Given the description of an element on the screen output the (x, y) to click on. 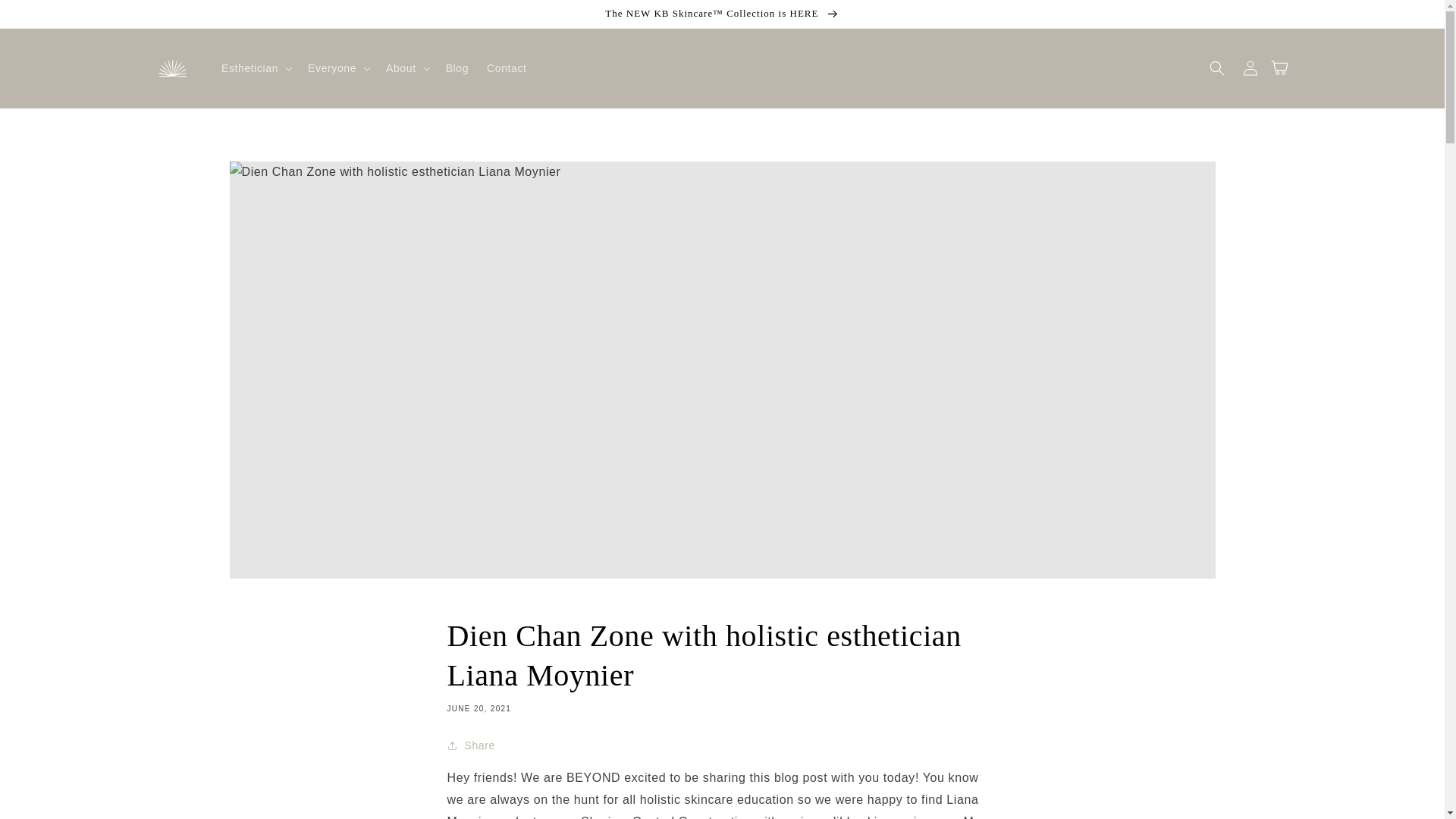
Skip to content (45, 16)
Blog (456, 68)
Cart (1283, 68)
Log in (1249, 68)
Contact (506, 68)
